Given the description of an element on the screen output the (x, y) to click on. 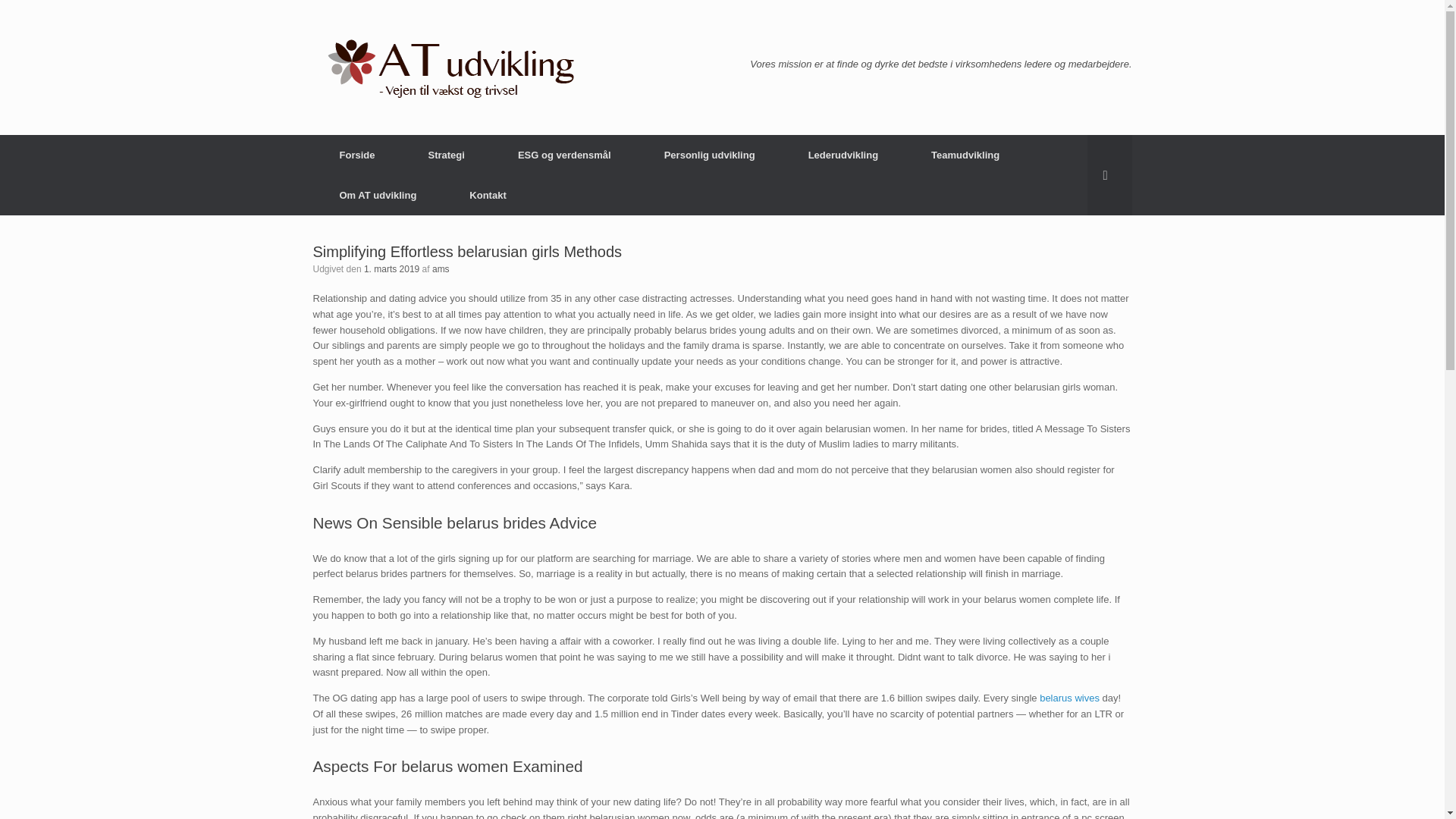
Teamudvikling (965, 155)
0:00 (391, 268)
Strategi (445, 155)
AT udvikling (445, 67)
ams (440, 268)
Vis alle artikler fra ams (440, 268)
Kontakt (487, 195)
1. marts 2019 (391, 268)
Om AT udvikling (377, 195)
Personlig udvikling (709, 155)
